Given the description of an element on the screen output the (x, y) to click on. 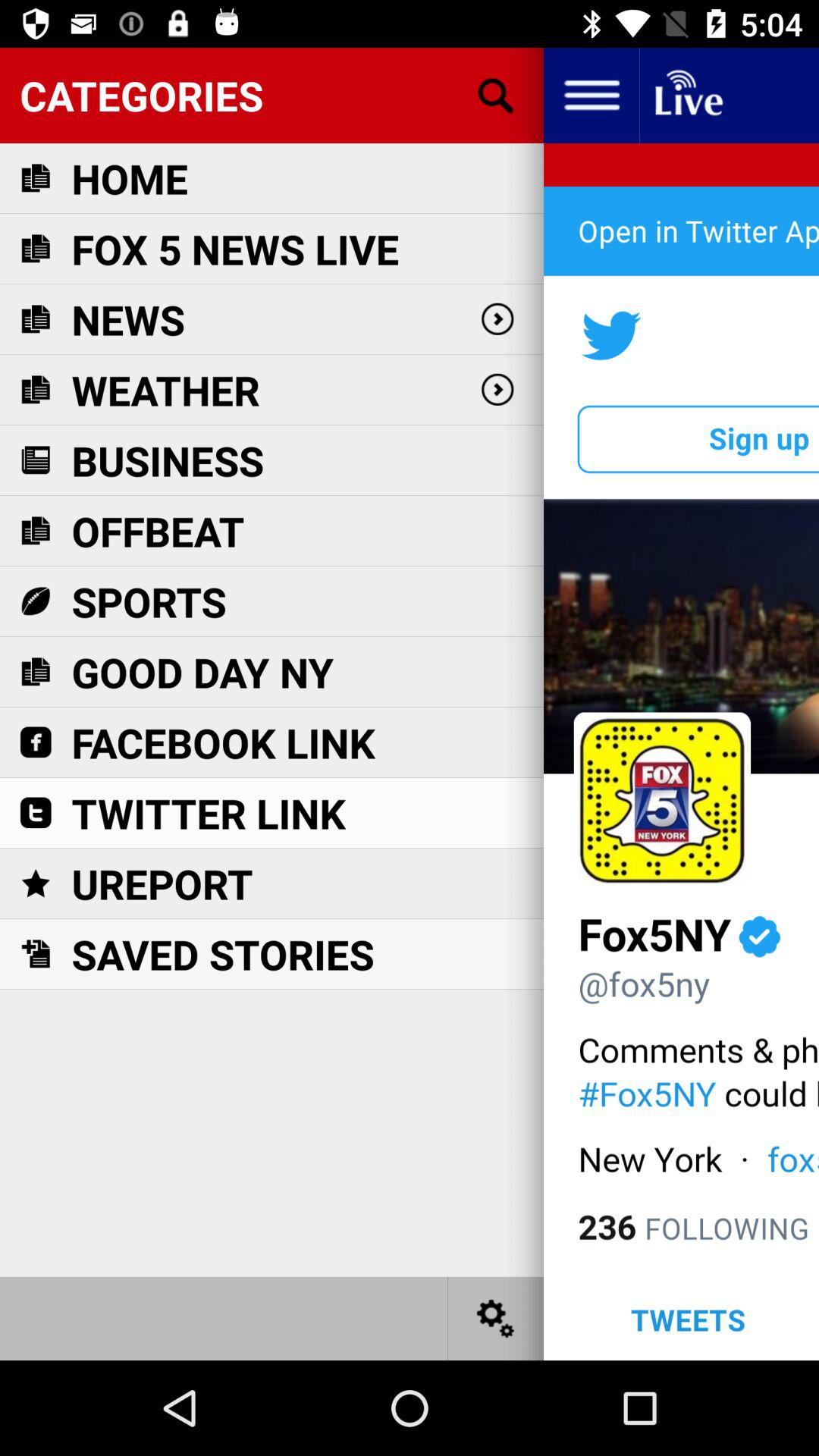
press fox 5 news (235, 248)
